Given the description of an element on the screen output the (x, y) to click on. 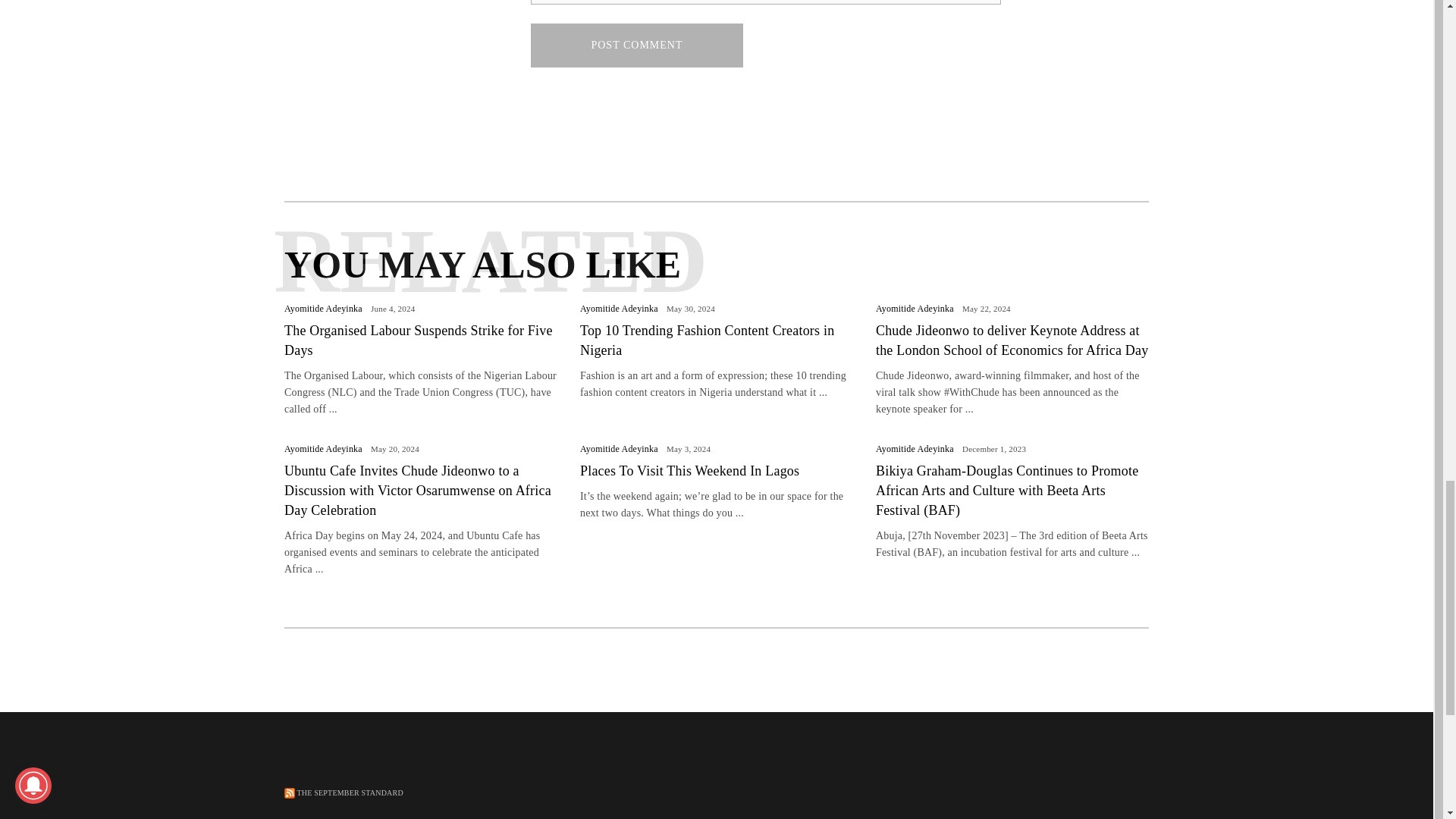
Post Comment (636, 45)
